Given the description of an element on the screen output the (x, y) to click on. 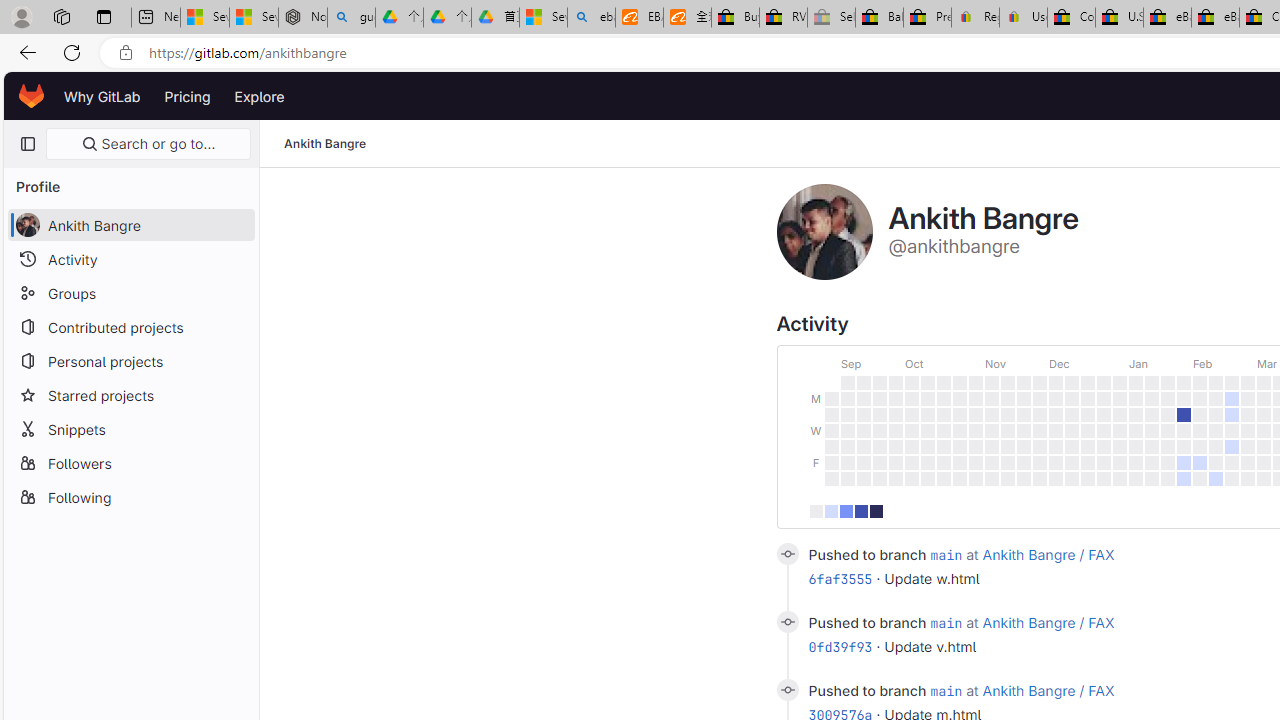
Homepage (31, 95)
